Given the description of an element on the screen output the (x, y) to click on. 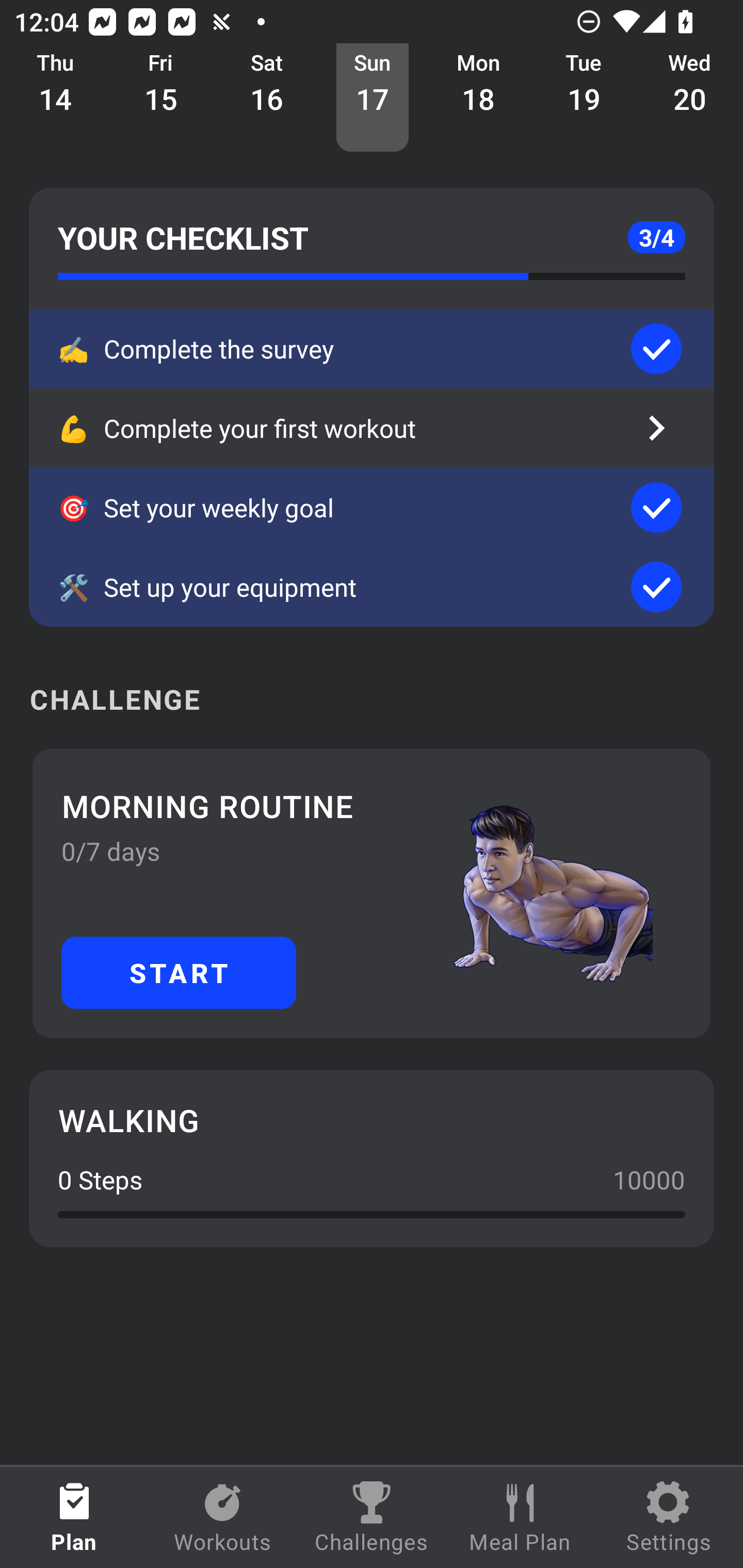
Thu 14 (55, 97)
Fri 15 (160, 97)
Sat 16 (266, 97)
Sun 17 (372, 97)
Mon 18 (478, 97)
Tue 19 (584, 97)
Wed 20 (690, 97)
💪 Complete your first workout (371, 427)
MORNING ROUTINE 0/7 days START (371, 892)
START (178, 972)
WALKING 0 Steps 10000 0.0 (371, 1158)
 Workouts  (222, 1517)
 Challenges  (371, 1517)
 Meal Plan  (519, 1517)
 Settings  (668, 1517)
